Given the description of an element on the screen output the (x, y) to click on. 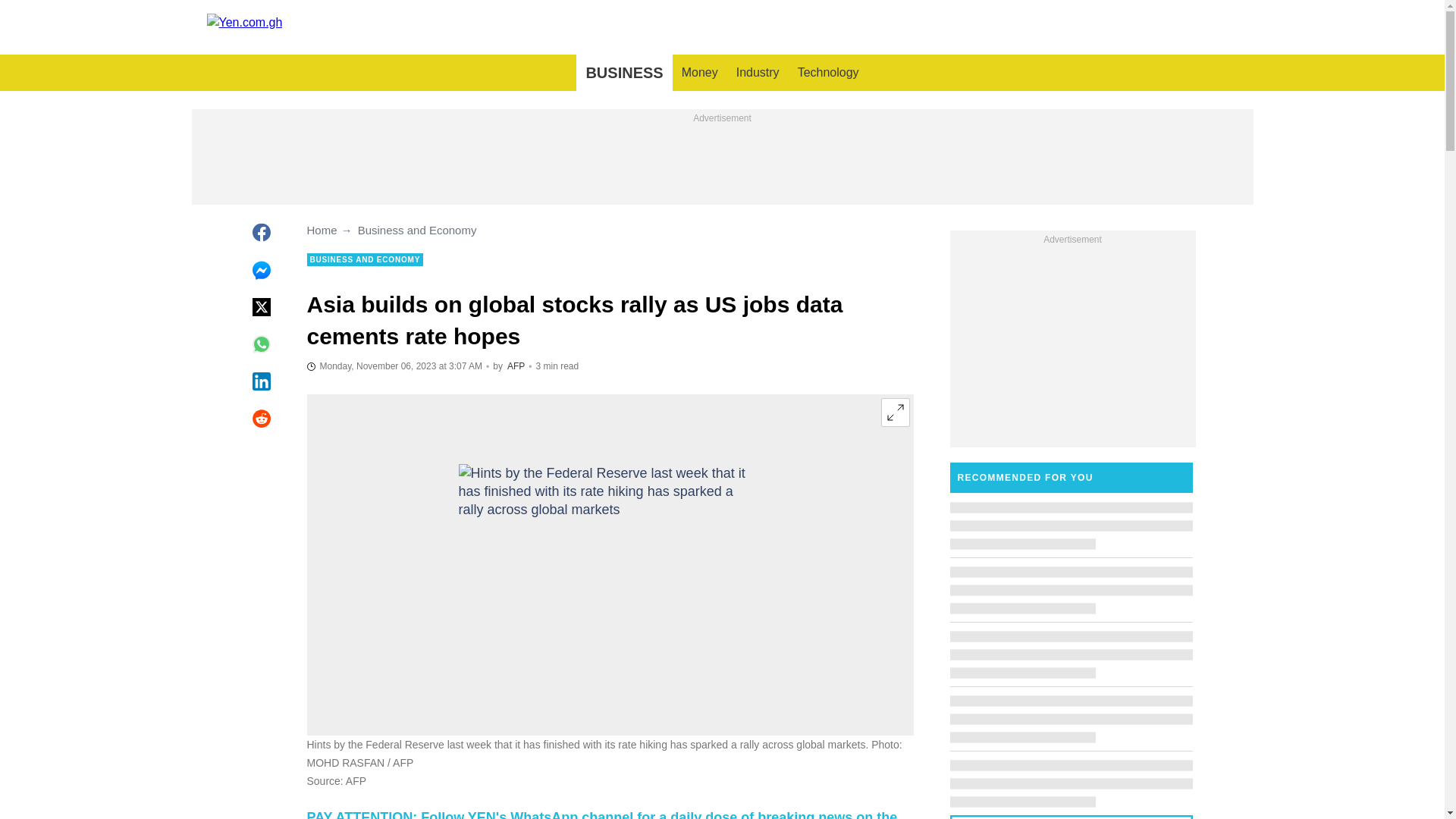
Technology (828, 72)
Author page (515, 366)
Expand image (895, 412)
Money (699, 72)
2023-11-06T03:07:03Z (393, 366)
WhatsApp Channel (600, 814)
Industry (757, 72)
BUSINESS (623, 72)
